Given the description of an element on the screen output the (x, y) to click on. 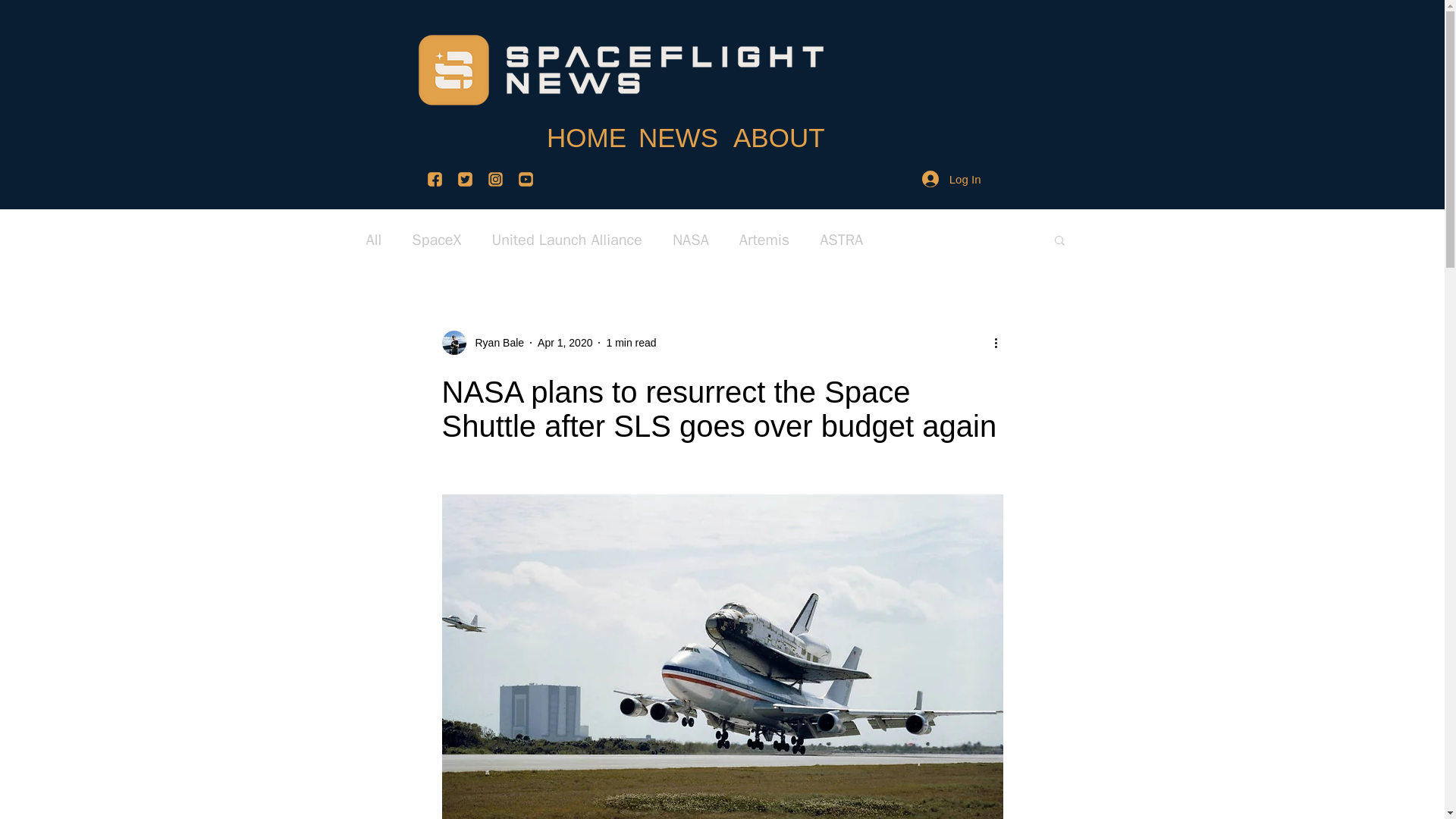
Apr 1, 2020 (564, 342)
HOME (581, 128)
SpaceX (436, 239)
ABOUT (774, 128)
Artemis (764, 239)
United Launch Alliance (567, 239)
Ryan Bale (494, 342)
Ryan Bale (482, 342)
NASA (690, 239)
ASTRA (841, 239)
1 min read (630, 342)
NEWS (674, 128)
Log In (951, 178)
